Given the description of an element on the screen output the (x, y) to click on. 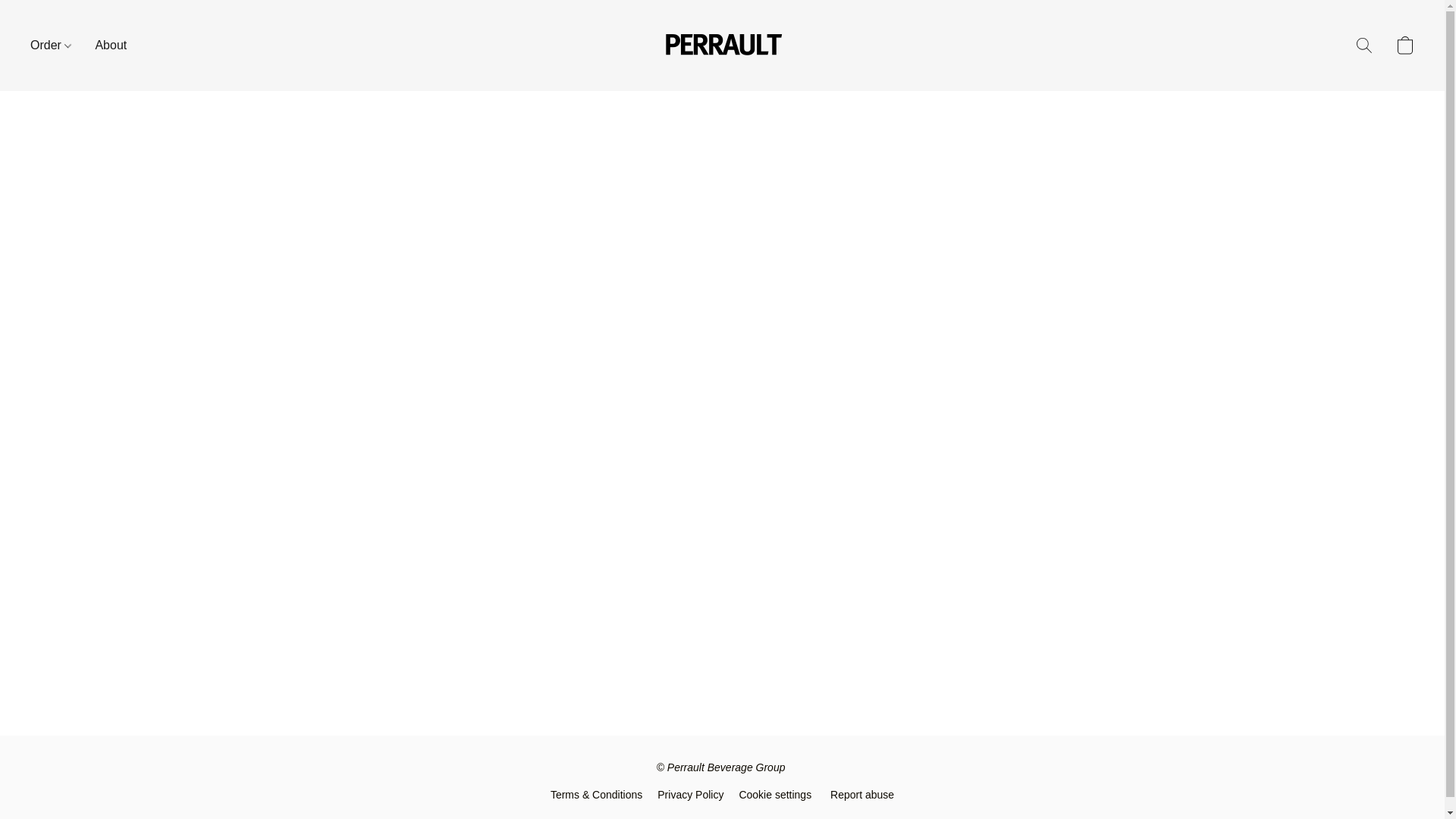
Privacy Policy (690, 794)
Search the website (1363, 45)
Order (56, 45)
About (104, 45)
Report abuse (861, 794)
Go to your shopping cart (1404, 45)
